Given the description of an element on the screen output the (x, y) to click on. 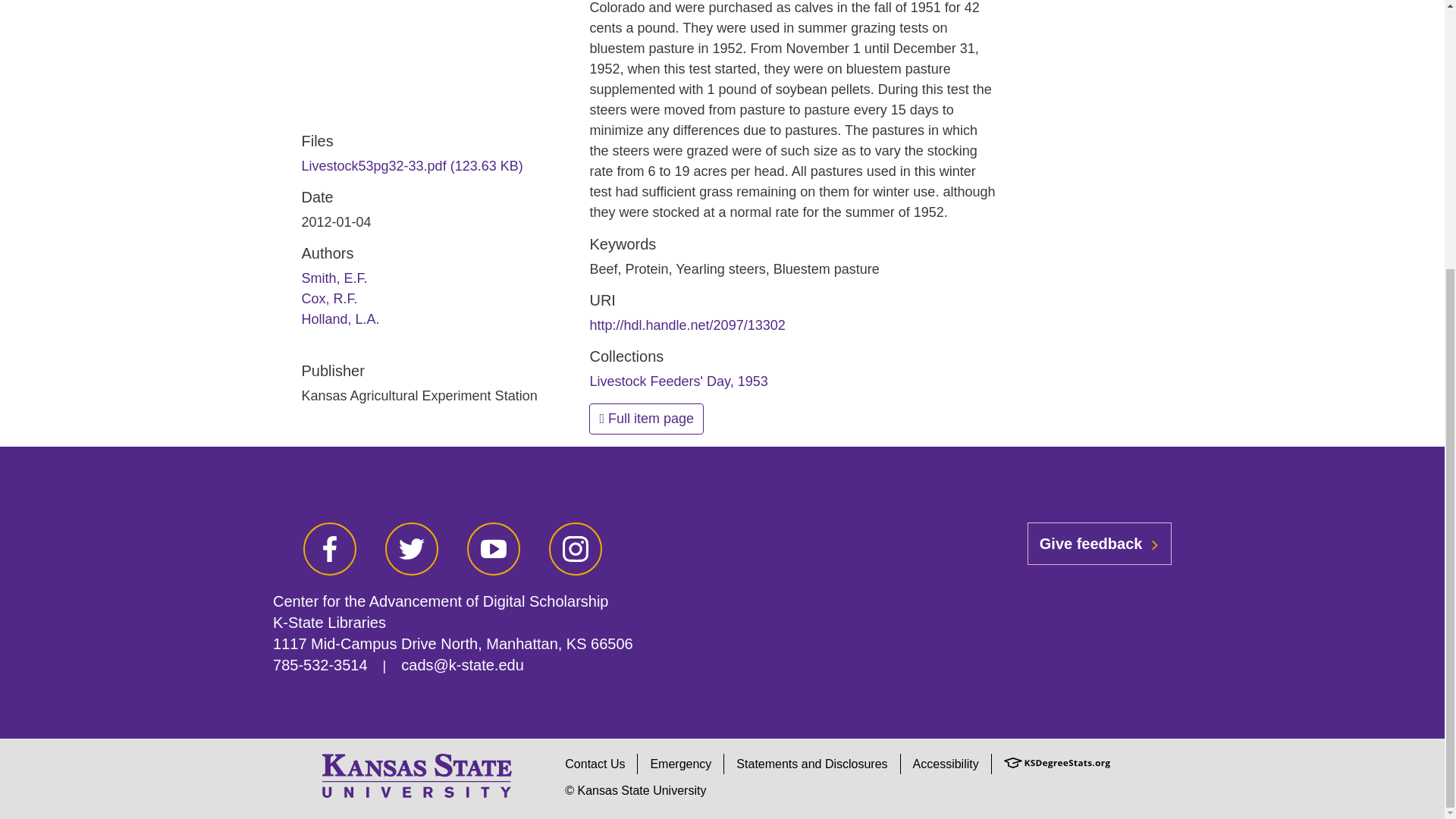
Livestock Feeders' Day, 1953 (678, 381)
chevron (1154, 544)
Holland, L.A. (340, 319)
Smith, E.F. (334, 278)
Cox, R.F. (329, 298)
